Given the description of an element on the screen output the (x, y) to click on. 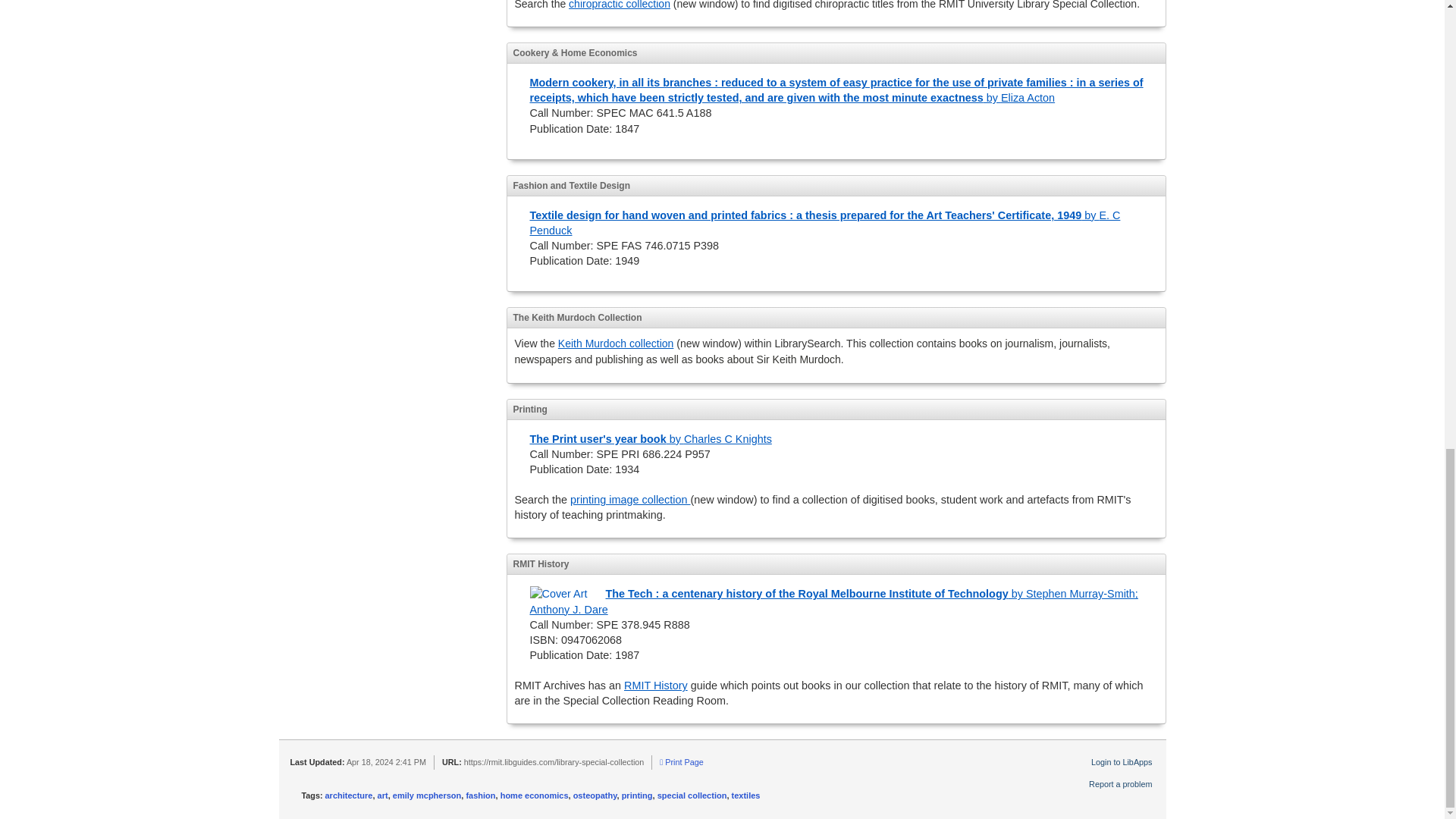
printing image collection  (630, 499)
chiropractic collection (619, 4)
The Print user's year book by Charles C Knights (650, 439)
RMIT History (655, 685)
Keith Murdoch collection (615, 343)
